Given the description of an element on the screen output the (x, y) to click on. 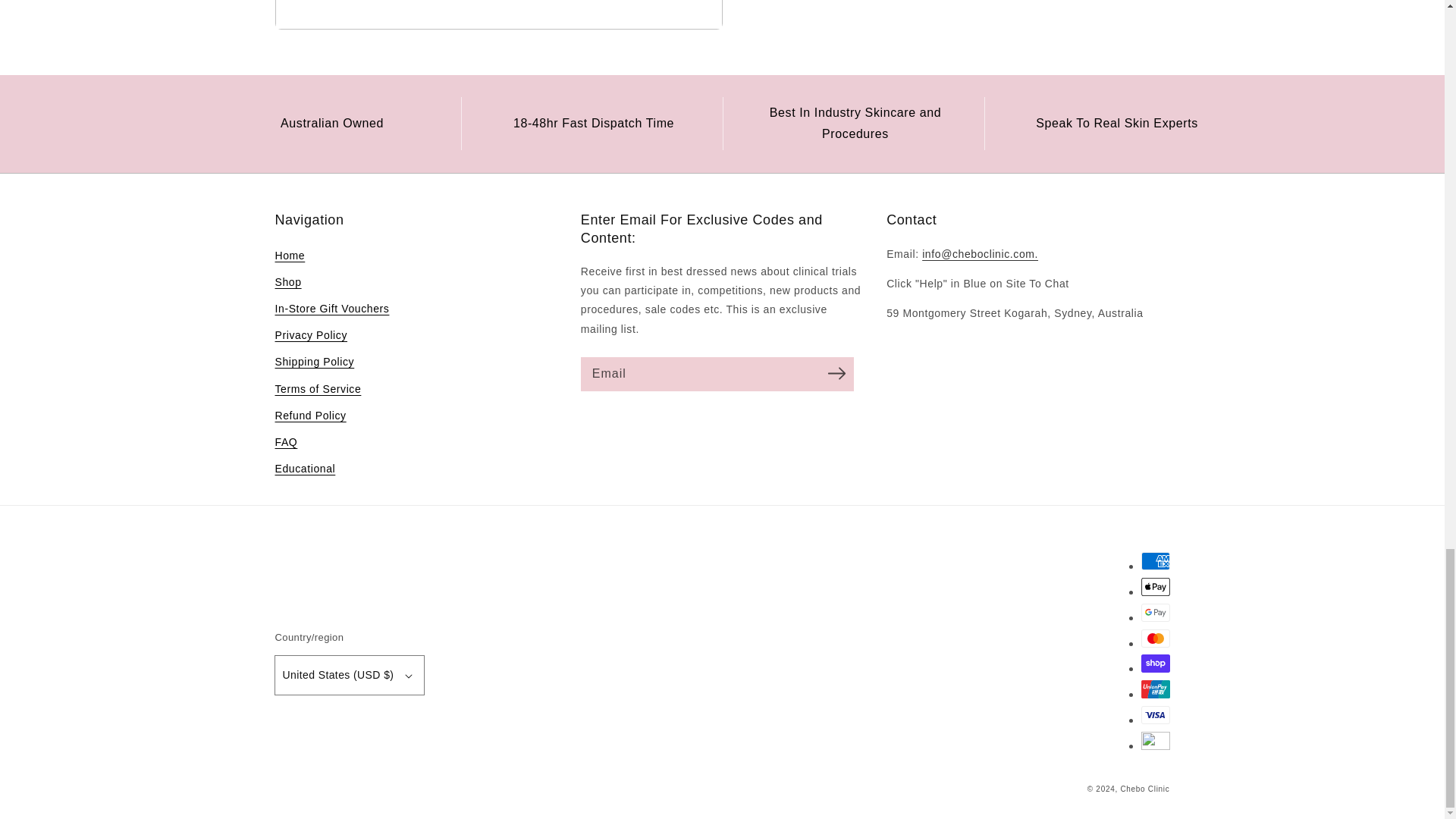
Visa (1154, 714)
Shop Pay (1154, 663)
Google Pay (1154, 612)
Union Pay (1154, 689)
American Express (1154, 561)
Mastercard (1154, 638)
Apple Pay (1154, 587)
